Given the description of an element on the screen output the (x, y) to click on. 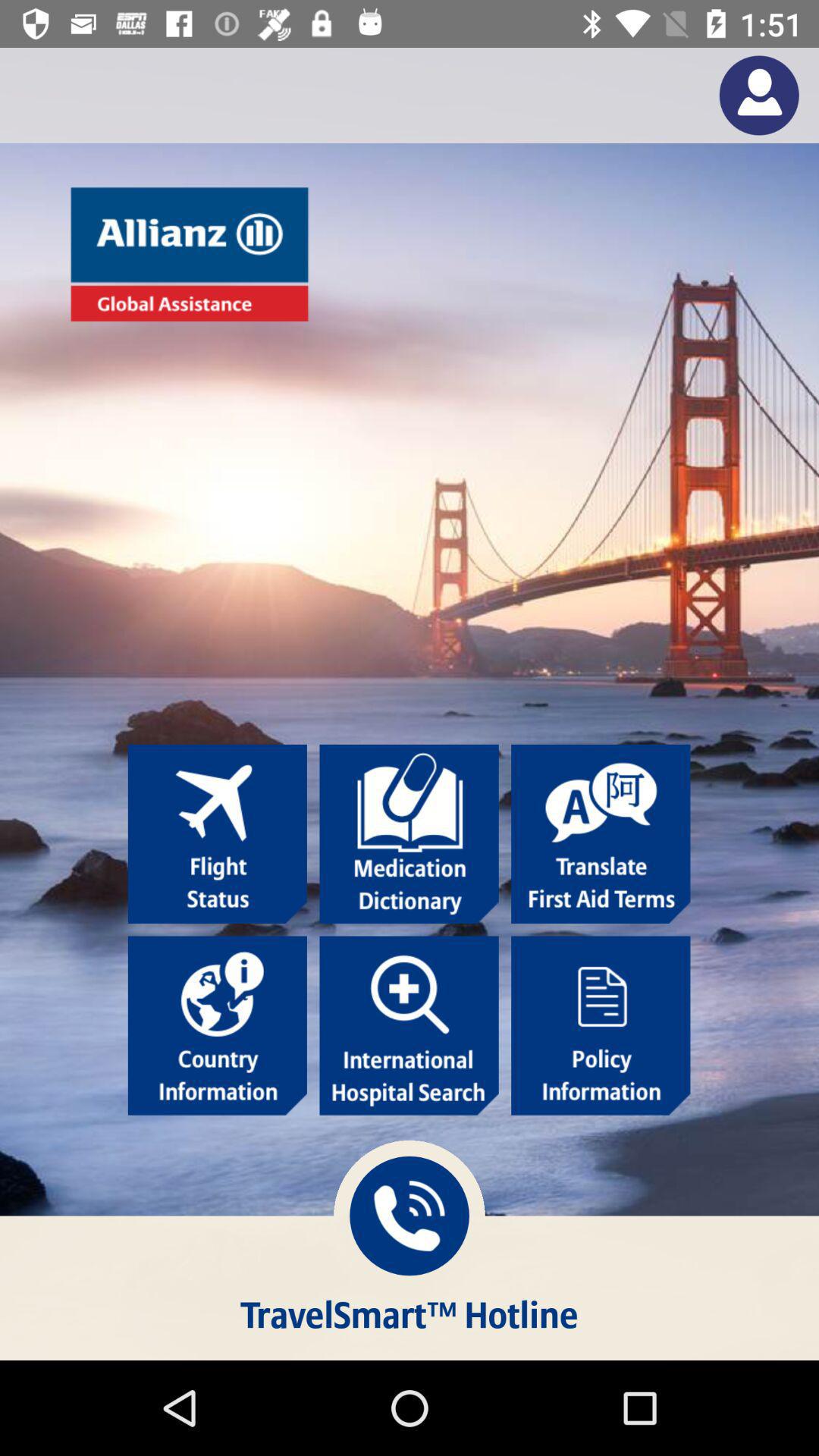
click country information (217, 1025)
